Given the description of an element on the screen output the (x, y) to click on. 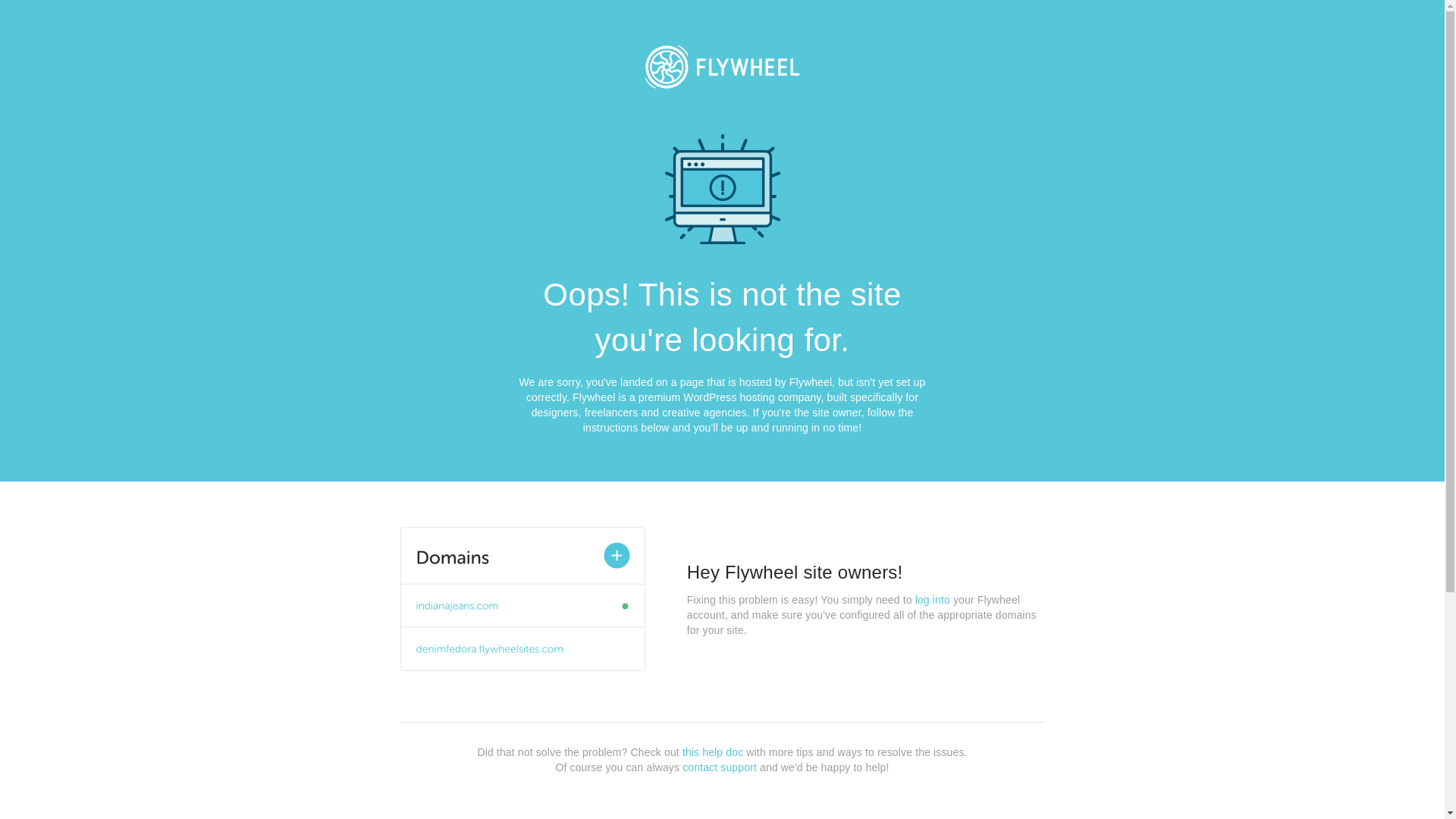
log into (932, 599)
this help doc (712, 752)
contact support (719, 767)
